Given the description of an element on the screen output the (x, y) to click on. 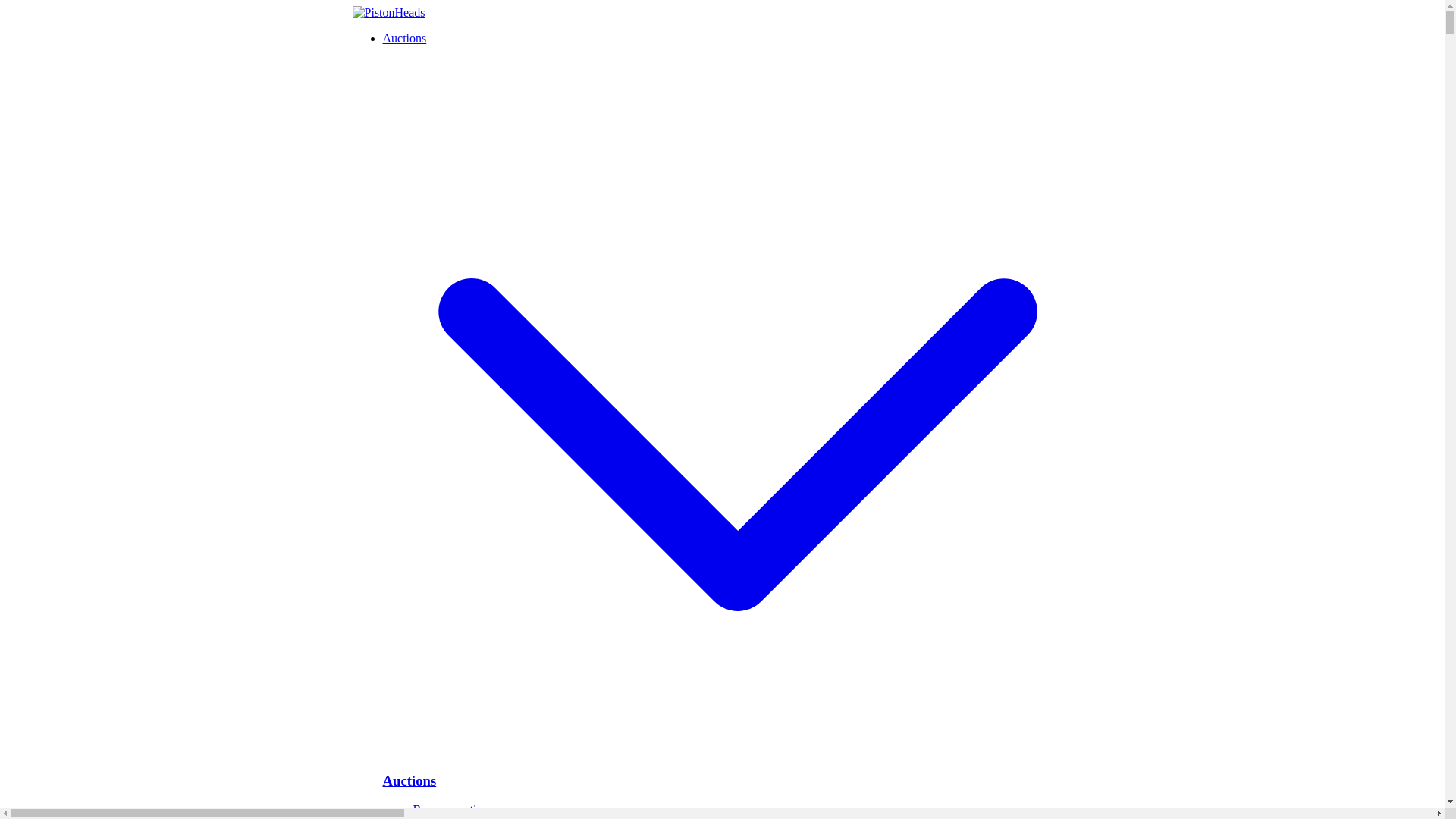
Auctions (736, 781)
Sell by auction (448, 817)
Browse auctions (452, 809)
